Given the description of an element on the screen output the (x, y) to click on. 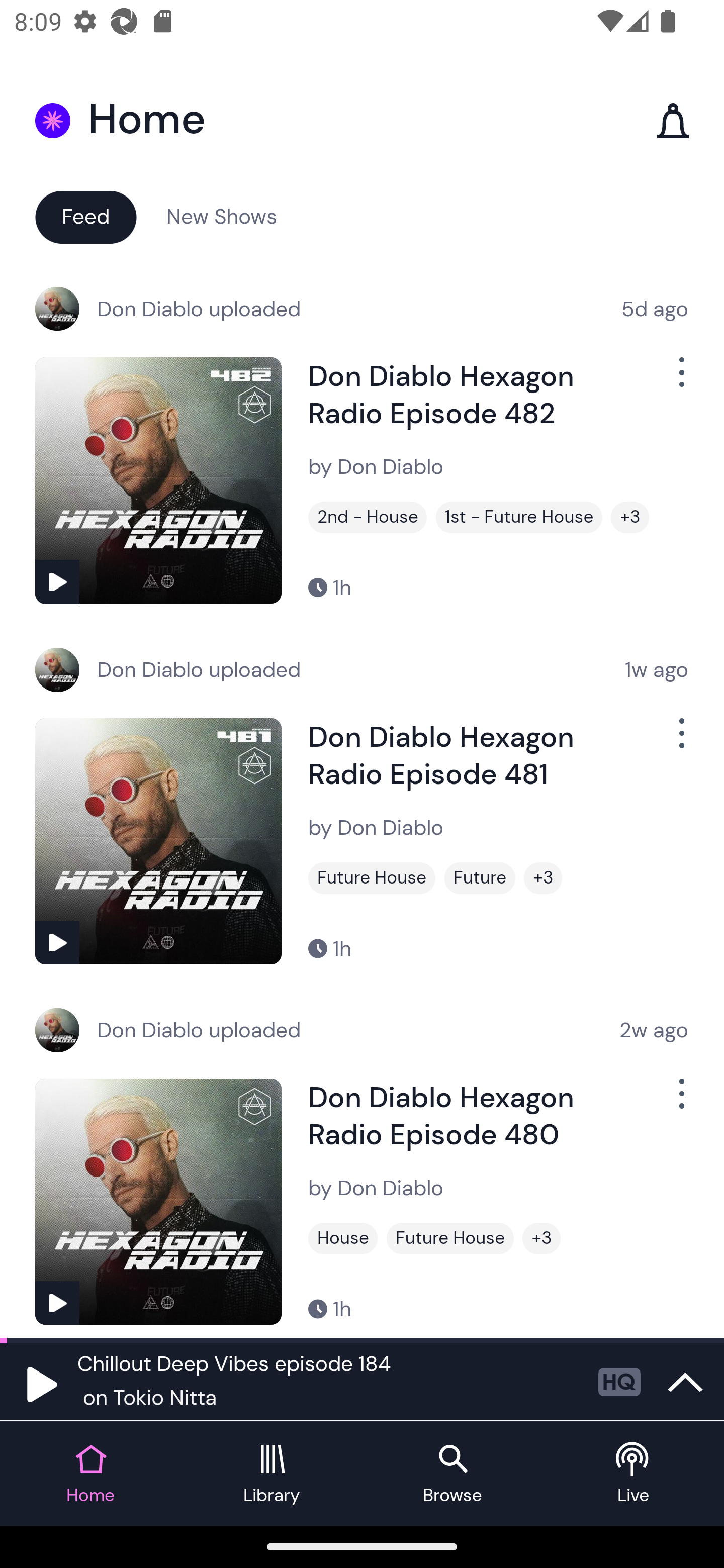
Feed (85, 216)
New Shows (221, 216)
Show Options Menu Button (679, 379)
2nd - House (367, 517)
1st - Future House (518, 517)
Show Options Menu Button (679, 740)
Future House (371, 877)
Future (479, 877)
Show Options Menu Button (679, 1101)
House (342, 1238)
Future House (450, 1238)
Home tab Home (90, 1473)
Library tab Library (271, 1473)
Browse tab Browse (452, 1473)
Live tab Live (633, 1473)
